Given the description of an element on the screen output the (x, y) to click on. 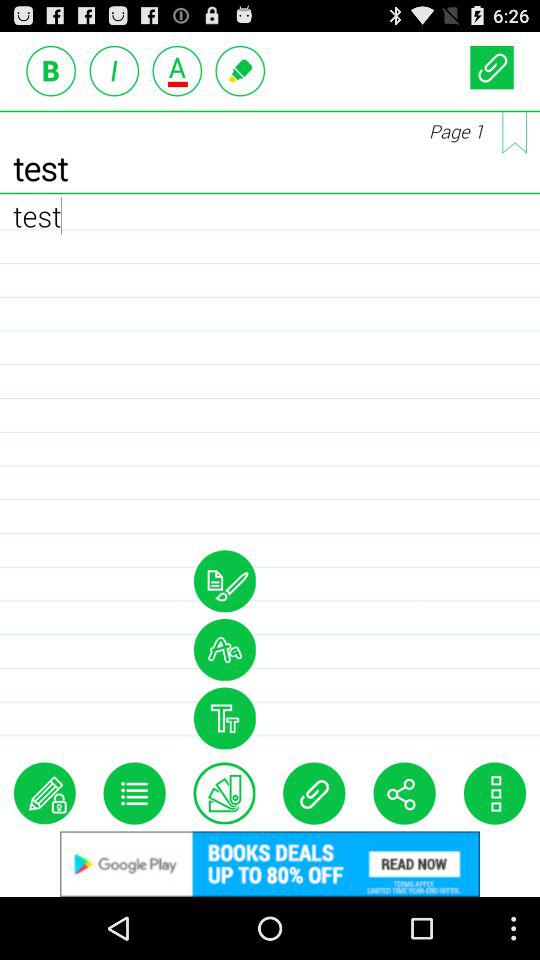
change font (224, 649)
